Given the description of an element on the screen output the (x, y) to click on. 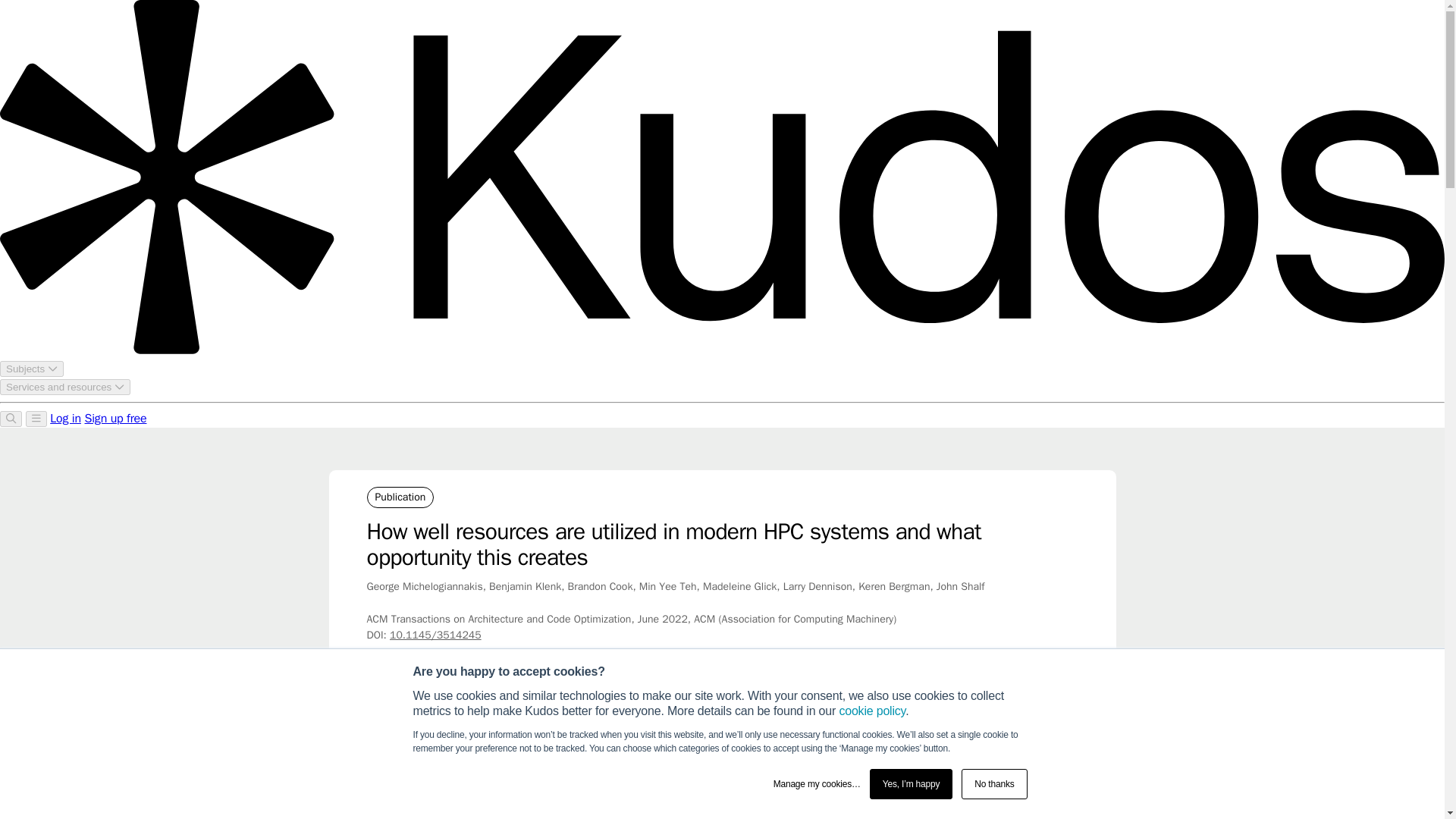
ACM Transactions on Architecture and Code Optimization (760, 719)
cookie policy (871, 710)
Read Article (997, 780)
Home (379, 719)
No thanks (993, 784)
Showcases (433, 719)
